Given the description of an element on the screen output the (x, y) to click on. 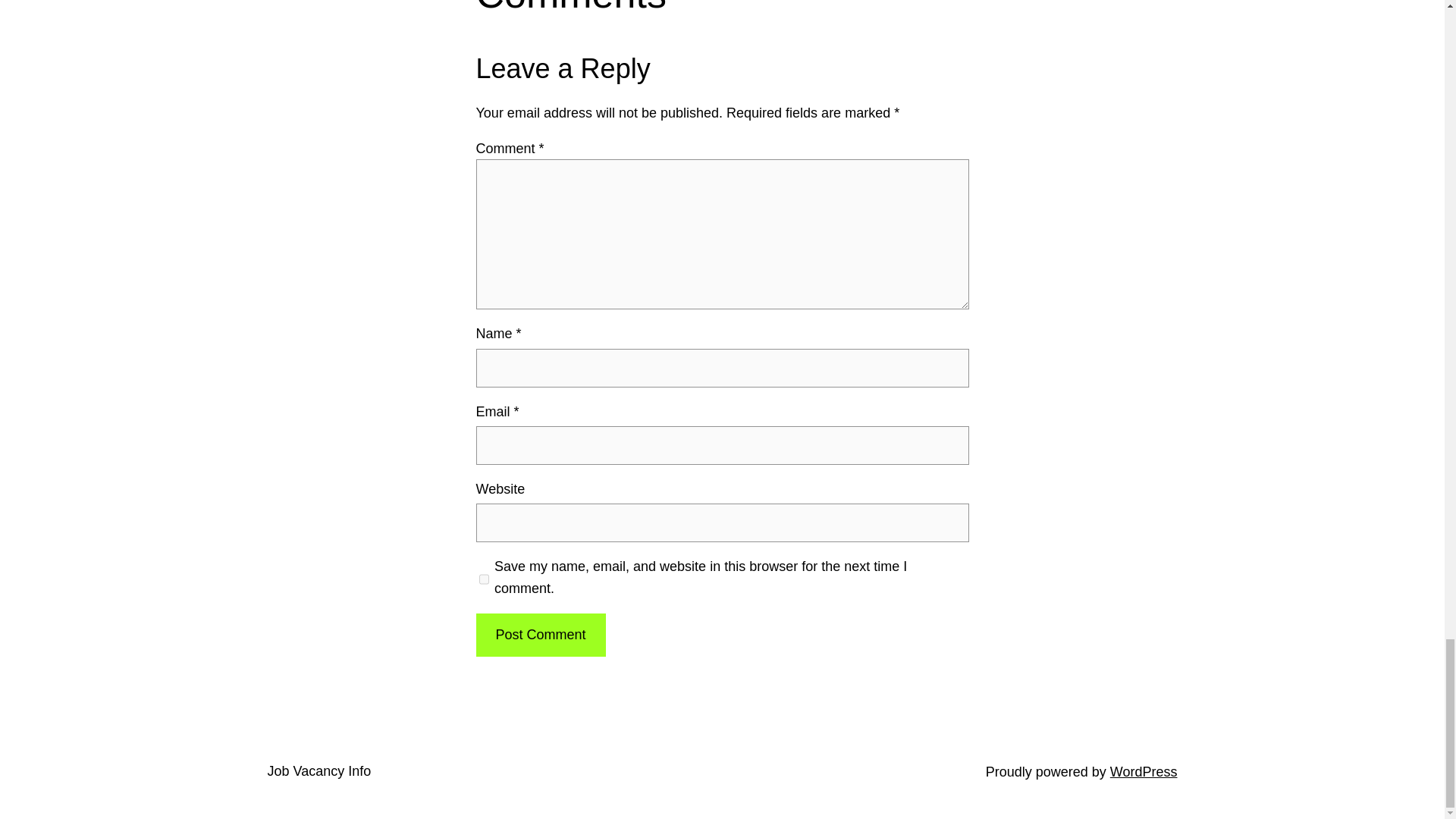
Post Comment (540, 634)
Post Comment (540, 634)
Job Vacancy Info (318, 770)
WordPress (1143, 771)
